Given the description of an element on the screen output the (x, y) to click on. 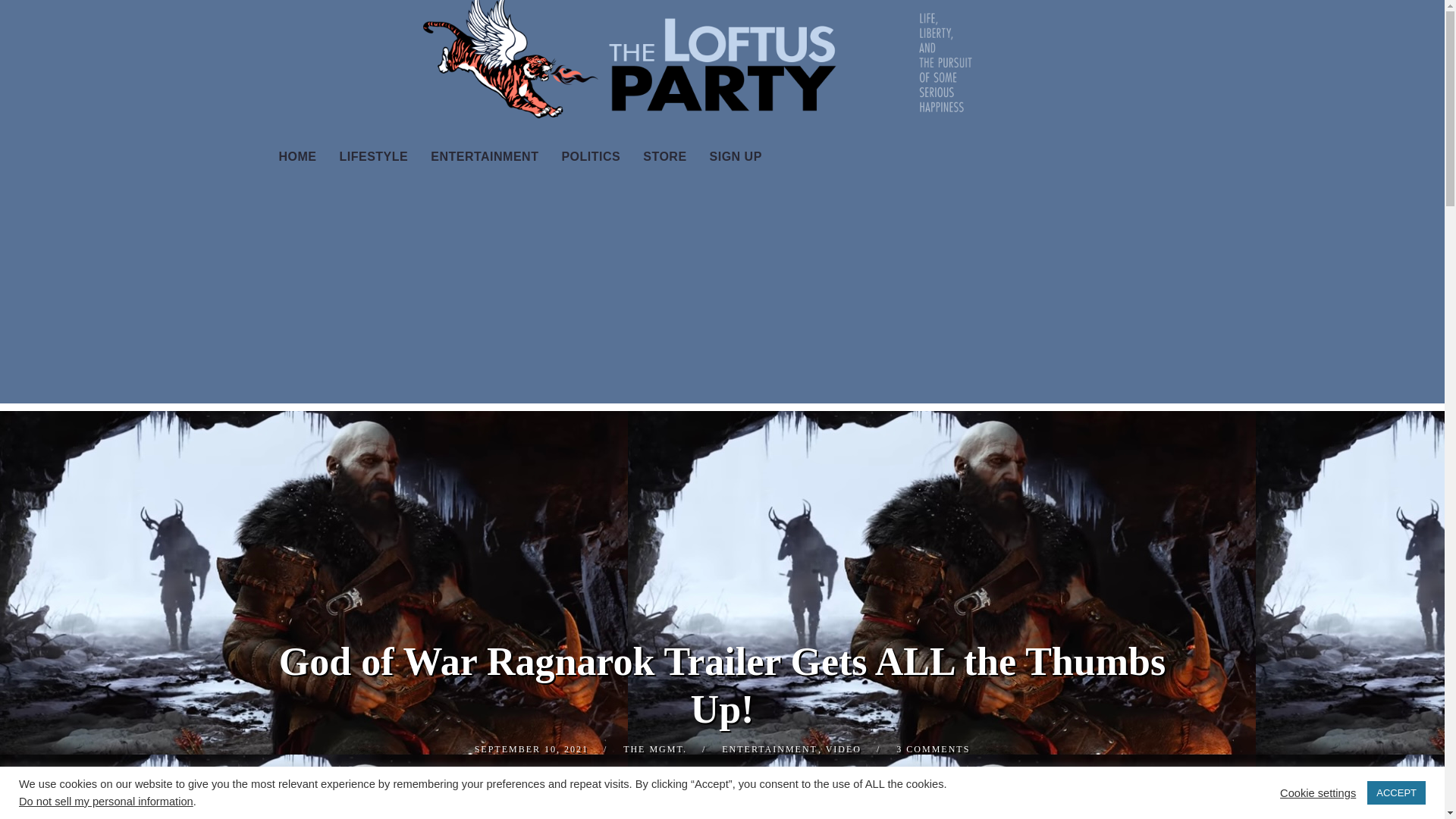
POLITICS (590, 156)
SIGN UP (735, 156)
3 COMMENTS (932, 748)
ENTERTAINMENT (484, 156)
HOME (296, 156)
VIDEO (843, 748)
LIFESTYLE (373, 156)
ENTERTAINMENT (769, 748)
STORE (664, 156)
The Loftus Party (721, 65)
THE MGMT. (655, 748)
